Given the description of an element on the screen output the (x, y) to click on. 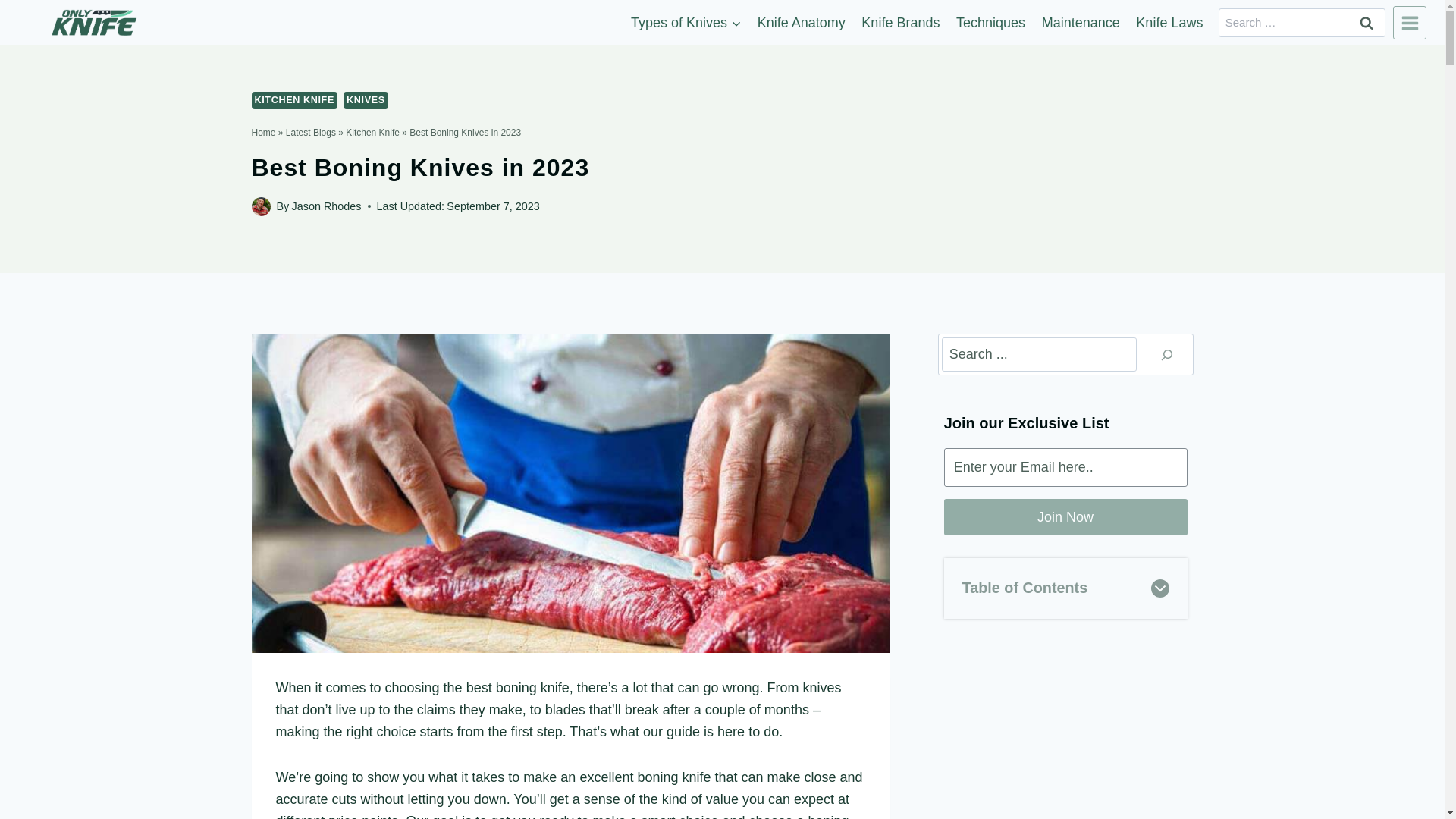
Search (1367, 22)
Knife Laws (1169, 22)
Techniques (990, 22)
KITCHEN KNIFE (294, 99)
Maintenance (1080, 22)
KNIVES (365, 99)
Kitchen Knife (372, 132)
Home (263, 132)
Types of Knives (686, 22)
Jason Rhodes (326, 205)
